Given the description of an element on the screen output the (x, y) to click on. 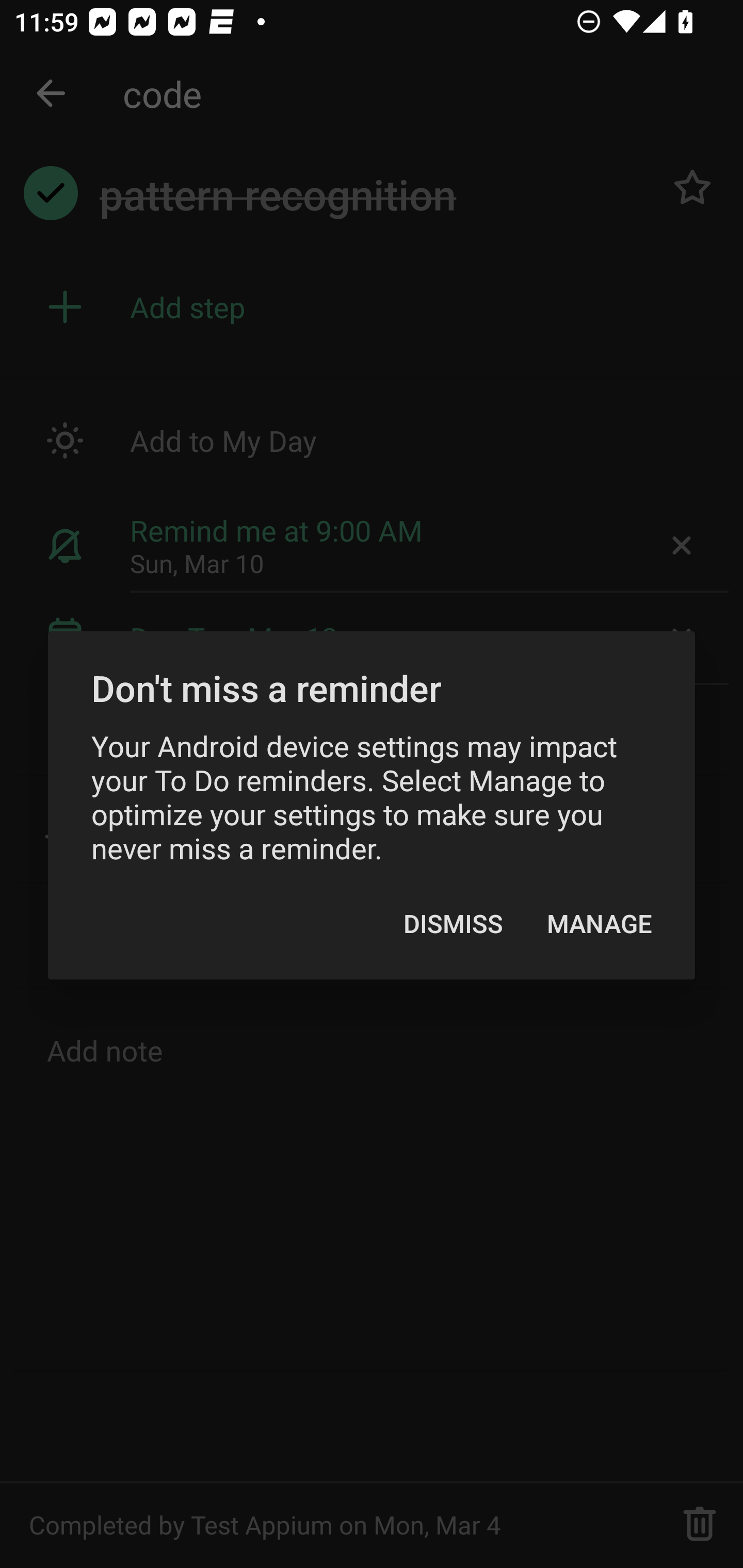
DISMISS (452, 923)
MANAGE (598, 923)
